Given the description of an element on the screen output the (x, y) to click on. 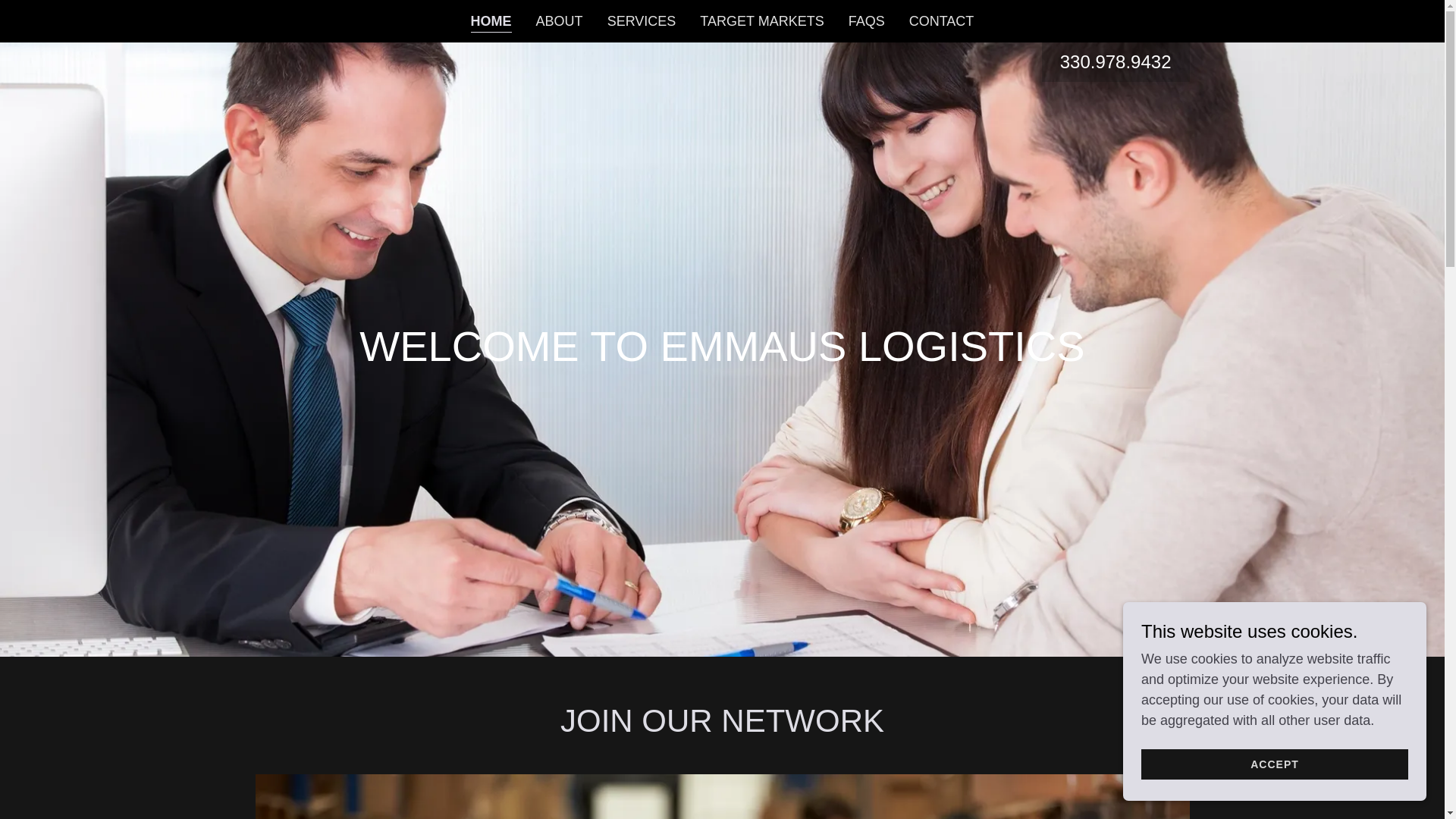
TARGET MARKETS (761, 21)
HOME (491, 22)
SERVICES (641, 21)
FAQS (866, 21)
CONTACT (941, 21)
330.978.9432 (1115, 61)
ACCEPT (1274, 764)
ABOUT (559, 21)
